Given the description of an element on the screen output the (x, y) to click on. 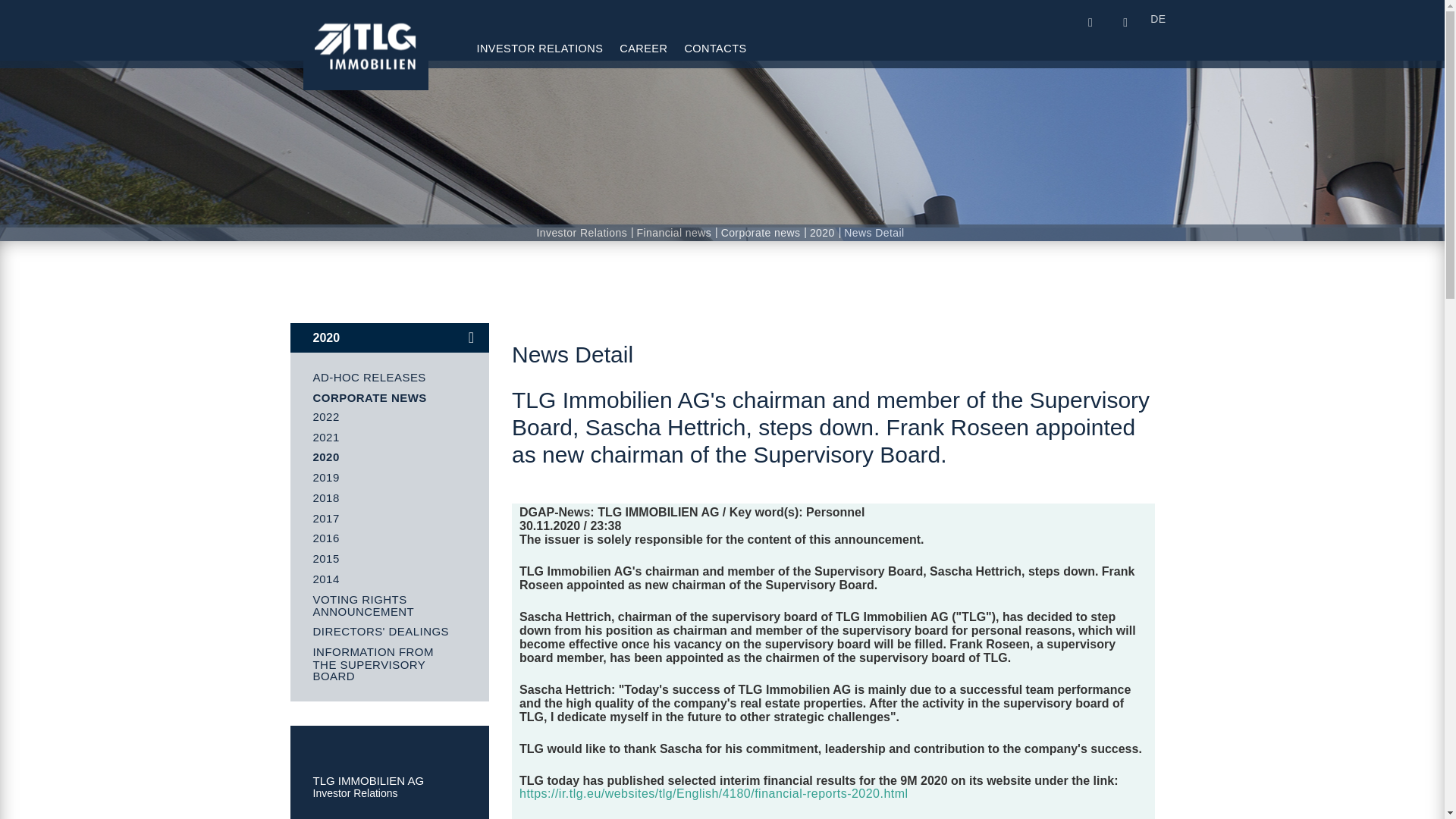
TLG IMMOBILIEN Home (365, 56)
2020 (823, 232)
Investor Relations (539, 48)
Career (643, 48)
DE (1158, 18)
